Given the description of an element on the screen output the (x, y) to click on. 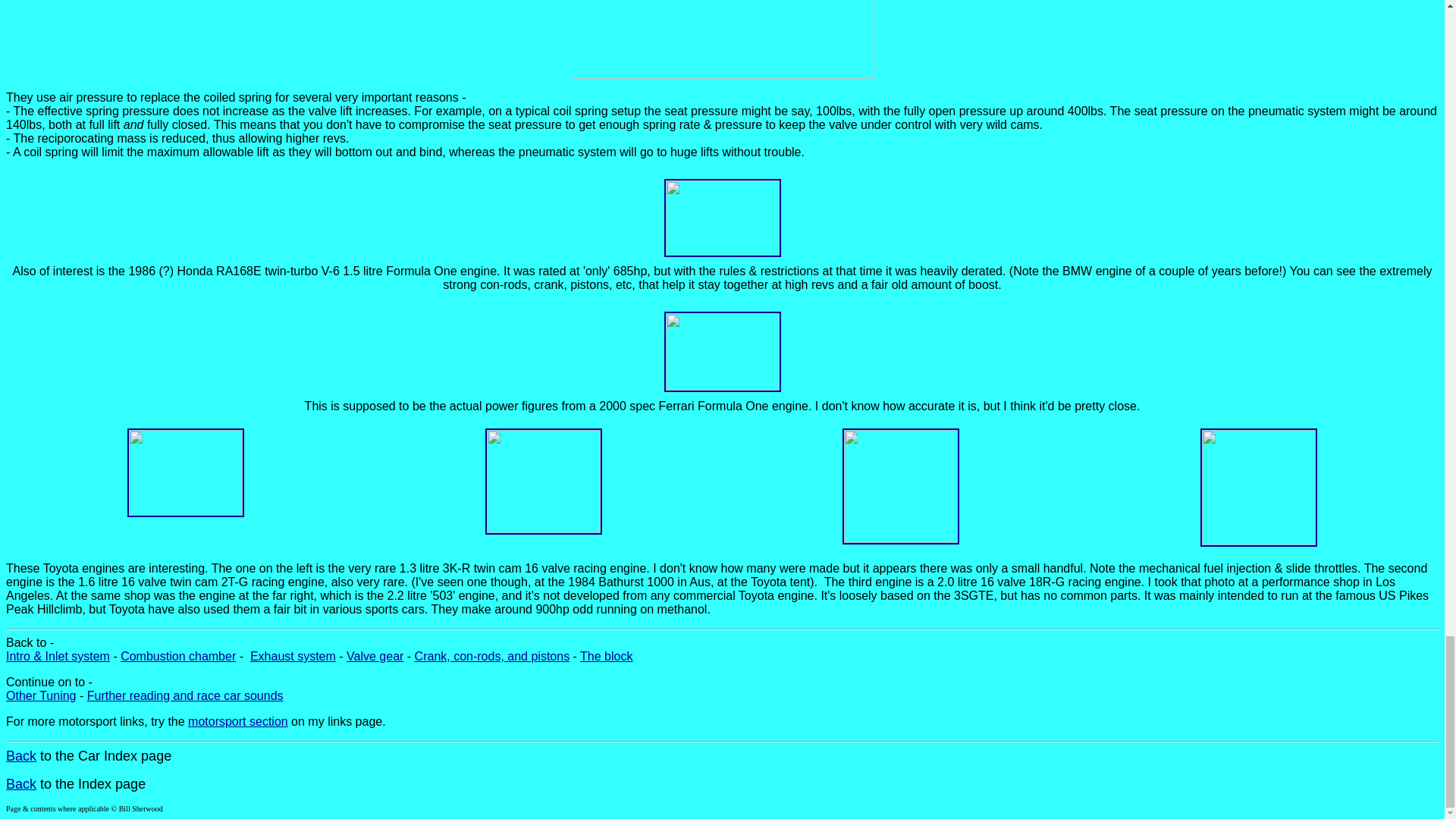
Back (20, 755)
Further reading and race car sounds (185, 695)
motorsport section (237, 721)
Valve gear (374, 656)
The block (605, 656)
Combustion chamber (177, 656)
Crank, con-rods, and pistons (492, 656)
Back (20, 783)
Other Tuning (41, 695)
Exhaust system (293, 656)
